Given the description of an element on the screen output the (x, y) to click on. 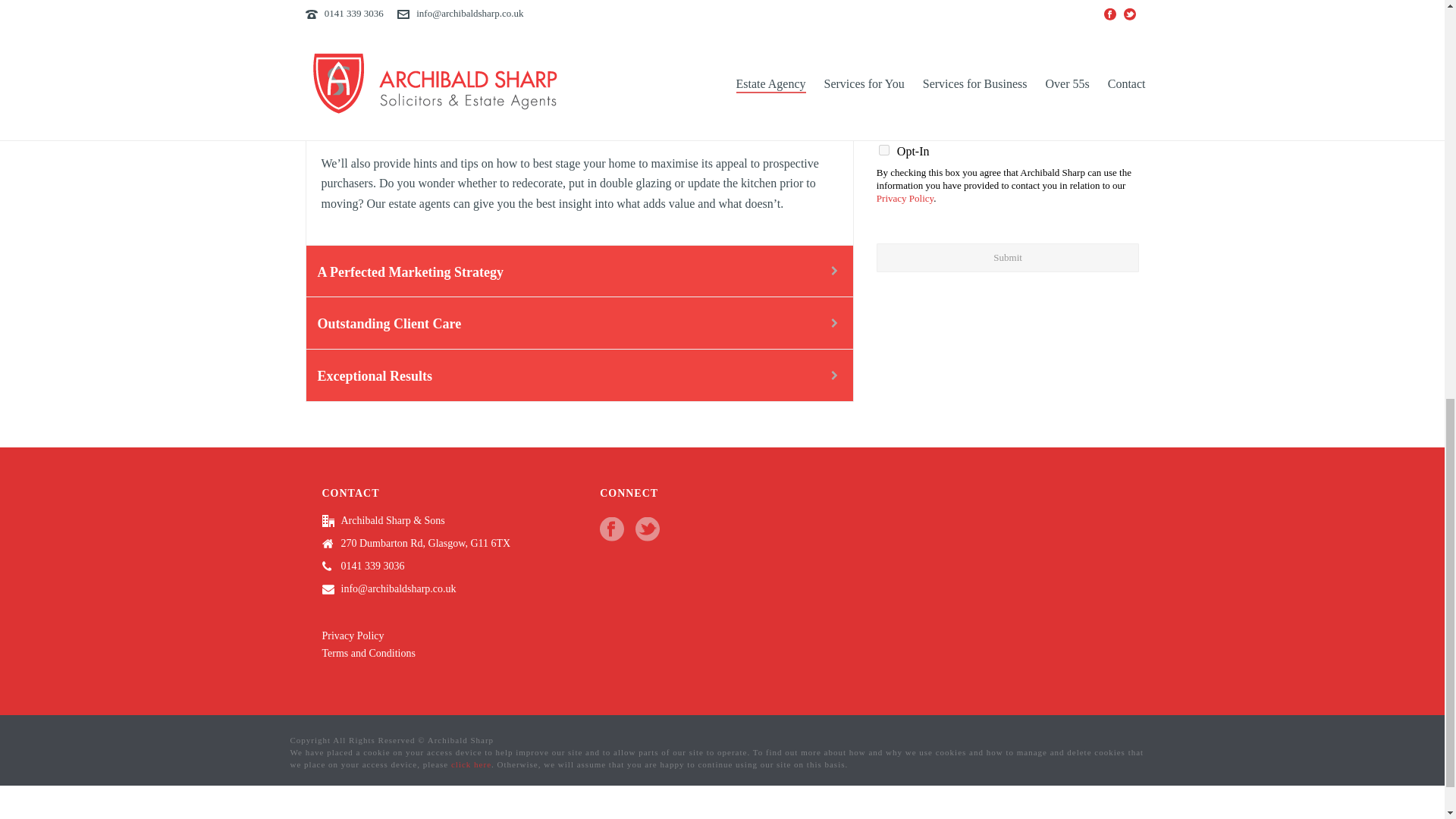
click here (471, 764)
Privacy Policy (352, 635)
Follow Us on twitter (646, 529)
Opt-In (884, 149)
Privacy Policy (904, 197)
Submit (1008, 257)
Follow Us on facebook (611, 529)
Terms and Conditions (367, 653)
